Given the description of an element on the screen output the (x, y) to click on. 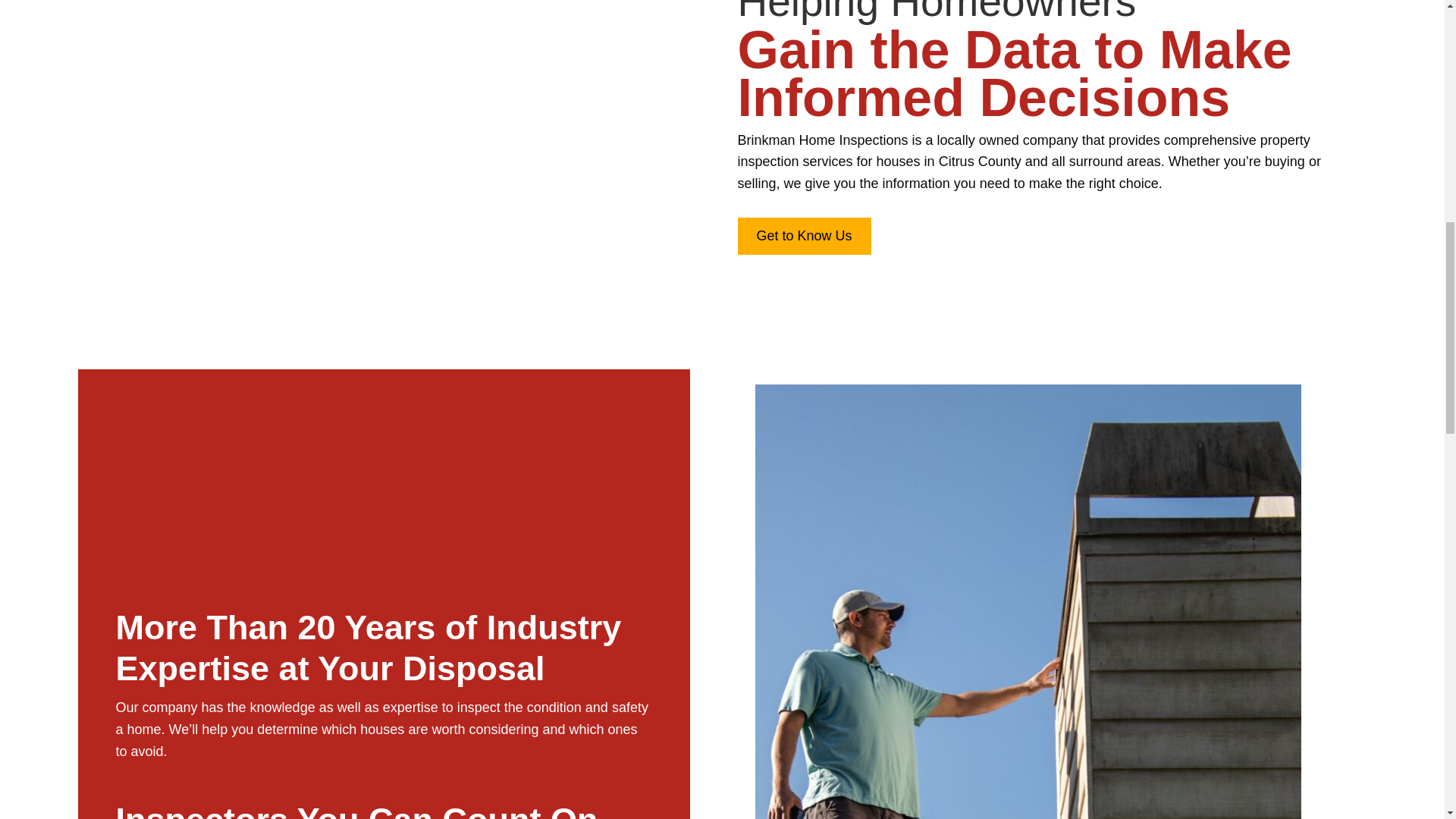
Get to Know Us (803, 235)
